Given the description of an element on the screen output the (x, y) to click on. 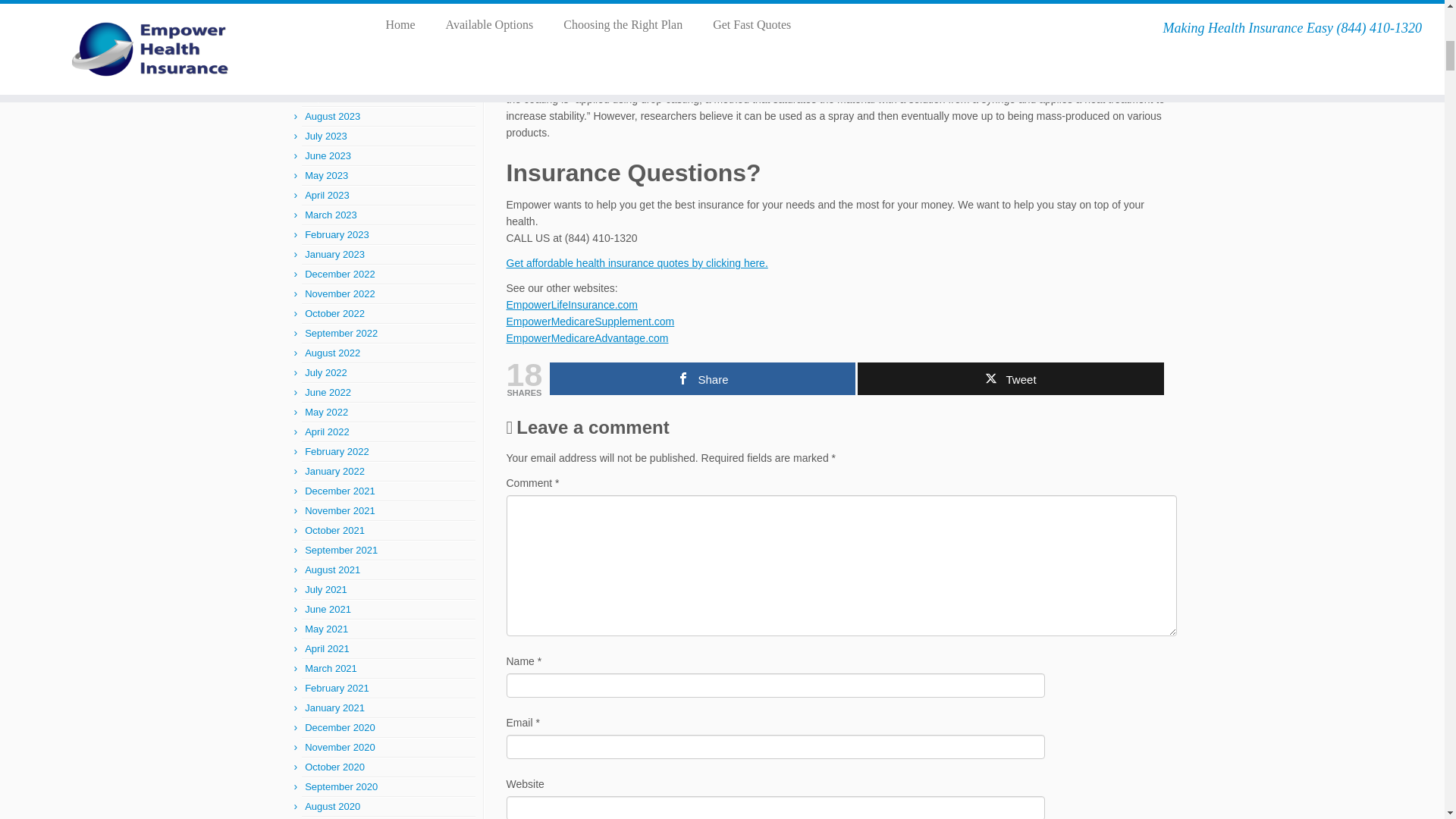
April 2023 (326, 194)
December 2022 (339, 274)
December 2023 (339, 37)
January 2024 (334, 17)
May 2023 (325, 174)
September 2023 (340, 96)
February 2024 (336, 2)
July 2023 (325, 135)
August 2023 (331, 116)
October 2023 (334, 76)
November 2023 (339, 57)
January 2023 (334, 254)
March 2023 (330, 214)
February 2023 (336, 234)
June 2023 (327, 155)
